Given the description of an element on the screen output the (x, y) to click on. 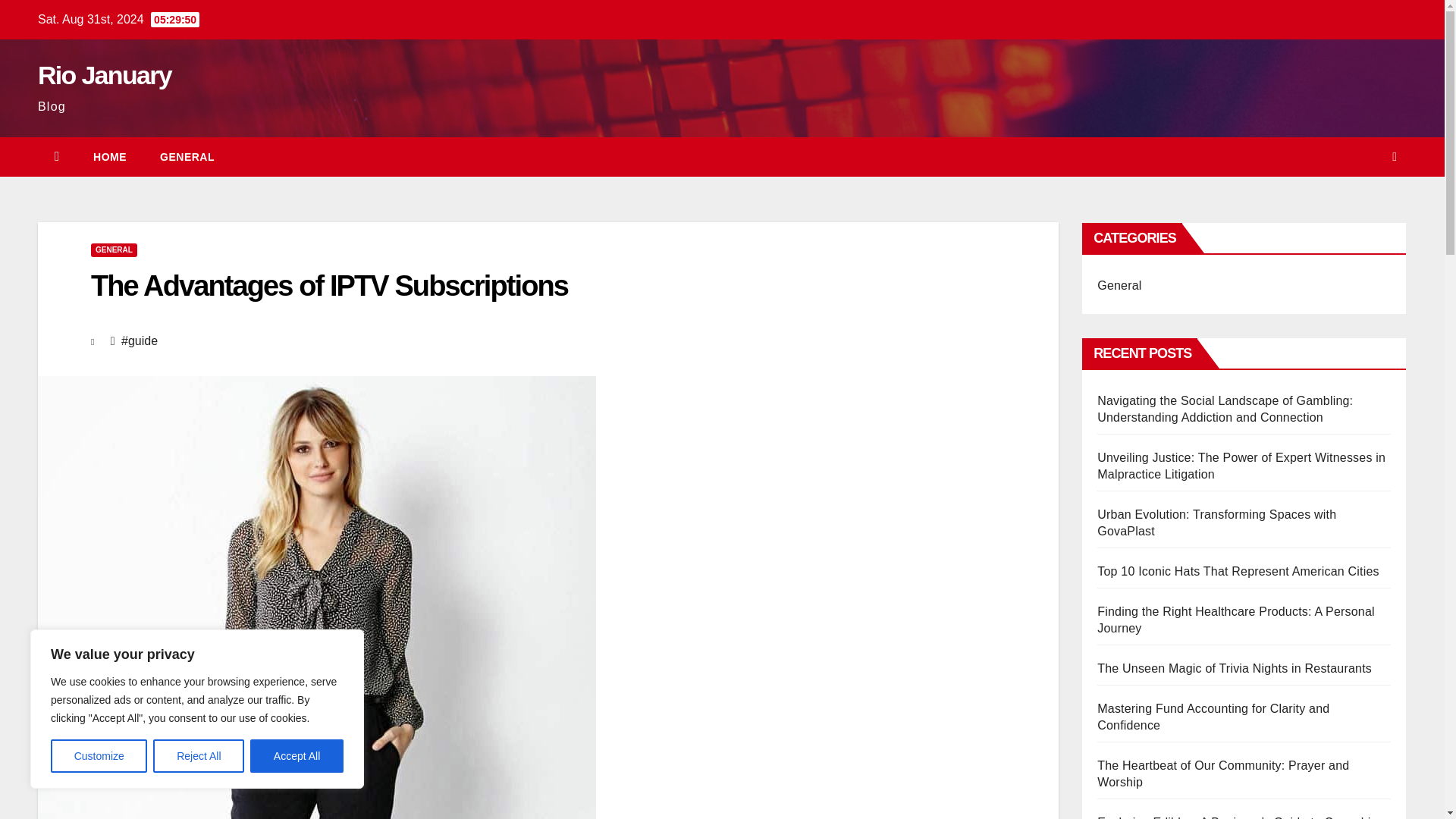
Rio January (104, 74)
General (186, 156)
Home (109, 156)
Reject All (198, 756)
Accept All (296, 756)
Permalink to: The Advantages of IPTV Subscriptions (328, 286)
HOME (109, 156)
The Advantages of IPTV Subscriptions (328, 286)
Customize (98, 756)
GENERAL (186, 156)
